Given the description of an element on the screen output the (x, y) to click on. 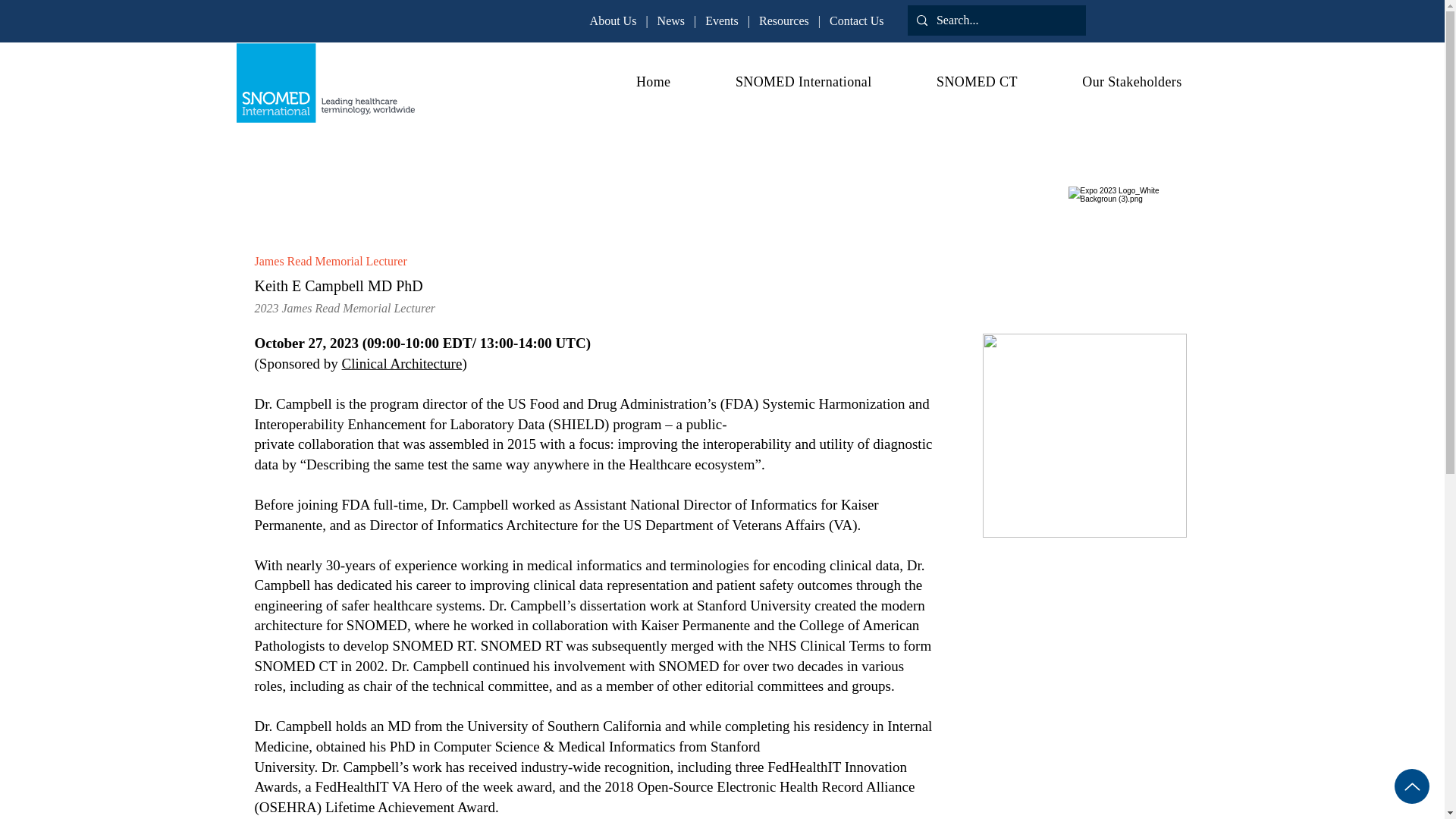
Clinical Architecture (402, 363)
Events (721, 20)
Our Stakeholders (1109, 81)
Home (631, 81)
Keith E Campbell MD PhD (1084, 435)
News (671, 20)
Contact Us (856, 20)
About Us (613, 20)
Resources (783, 20)
